Given the description of an element on the screen output the (x, y) to click on. 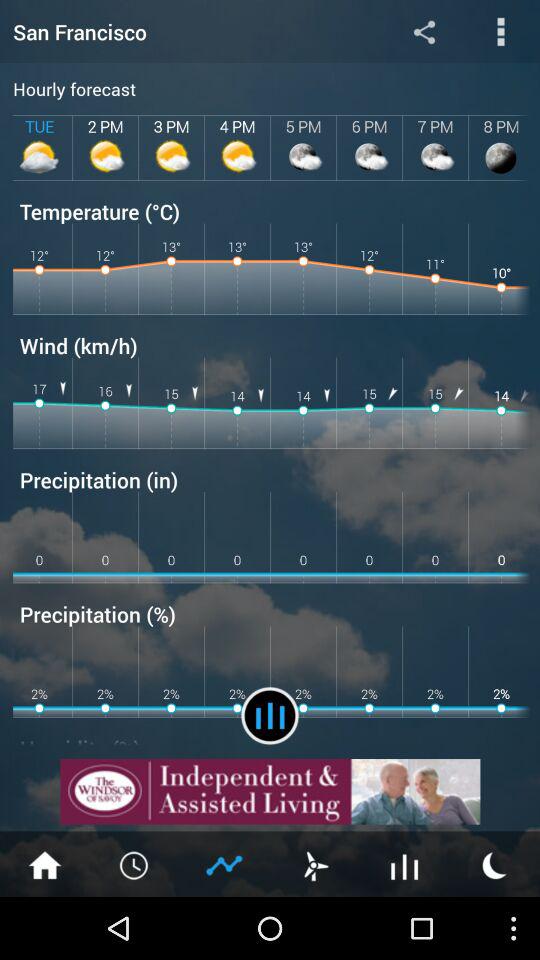
click to share option (424, 31)
